Given the description of an element on the screen output the (x, y) to click on. 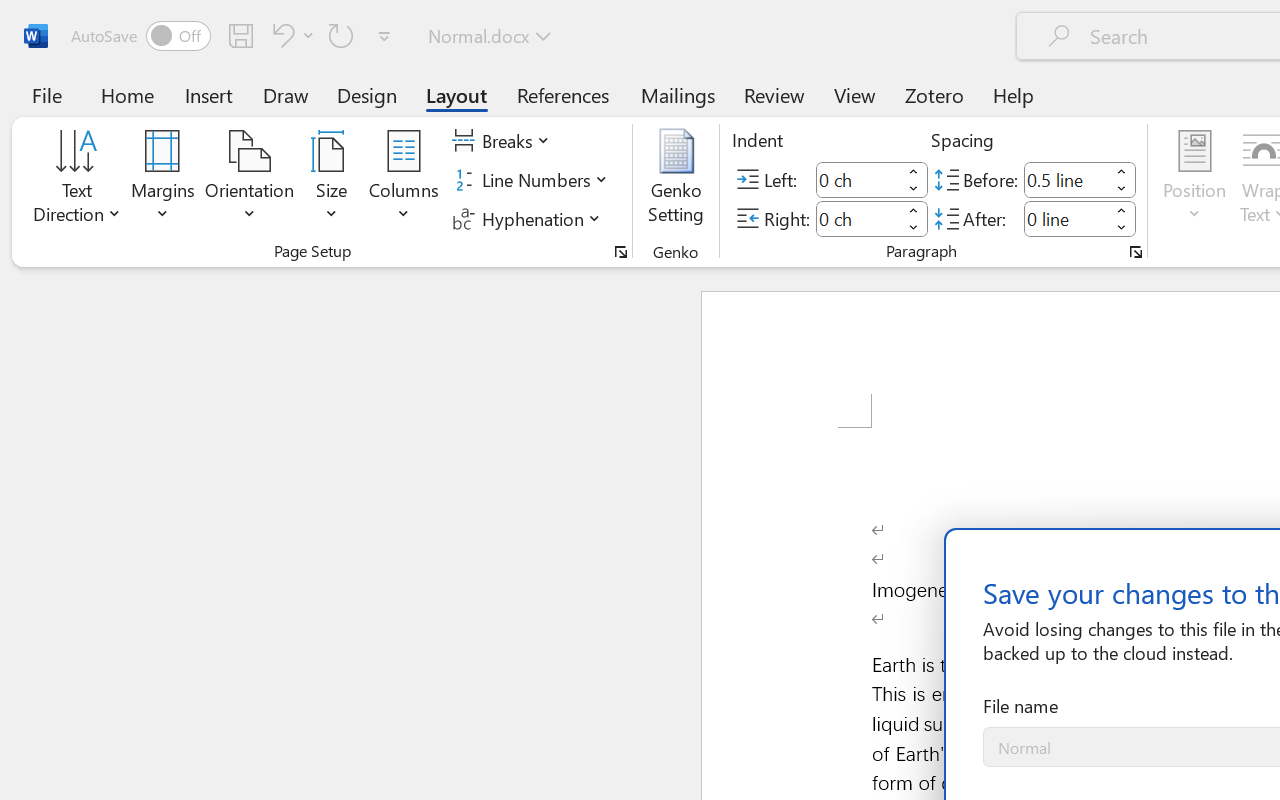
More (1121, 210)
Size (331, 179)
Spacing After (1066, 218)
Undo Paragraph Formatting (290, 35)
Page Setup... (621, 252)
Spacing Before (1066, 179)
